Given the description of an element on the screen output the (x, y) to click on. 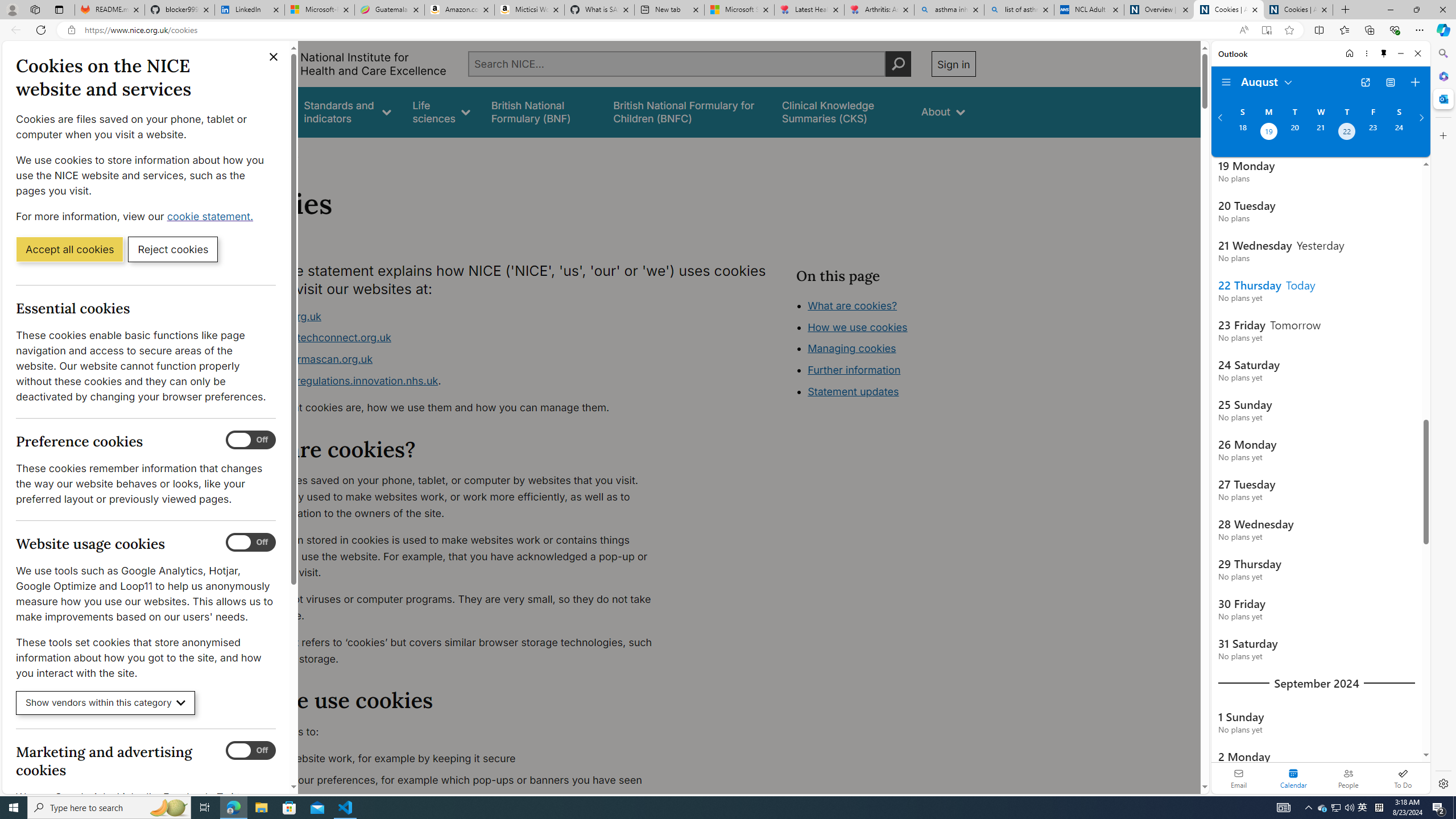
View Switcher. Current view is Agenda view (1390, 82)
Email (1238, 777)
Class: in-page-nav__list (884, 349)
Create event (1414, 82)
About (942, 111)
Saturday, August 24, 2024.  (1399, 132)
Enter Immersive Reader (F9) (1266, 29)
August (1267, 80)
